Given the description of an element on the screen output the (x, y) to click on. 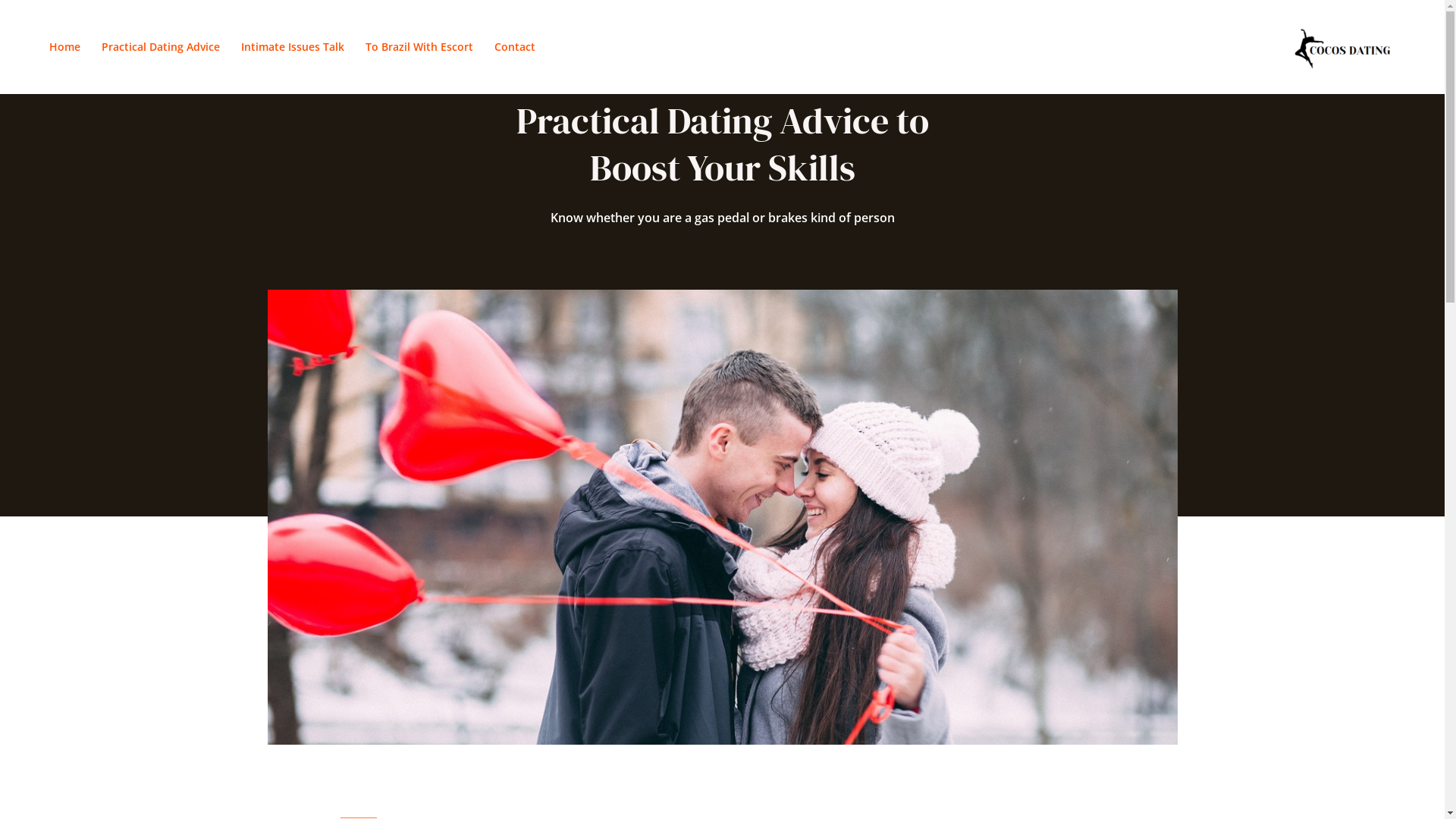
Practical Dating Advice Element type: text (160, 46)
Contact Element type: text (514, 46)
Intimate Issues Talk Element type: text (292, 46)
Home Element type: text (64, 46)
To Brazil With Escort Element type: text (418, 46)
